Given the description of an element on the screen output the (x, y) to click on. 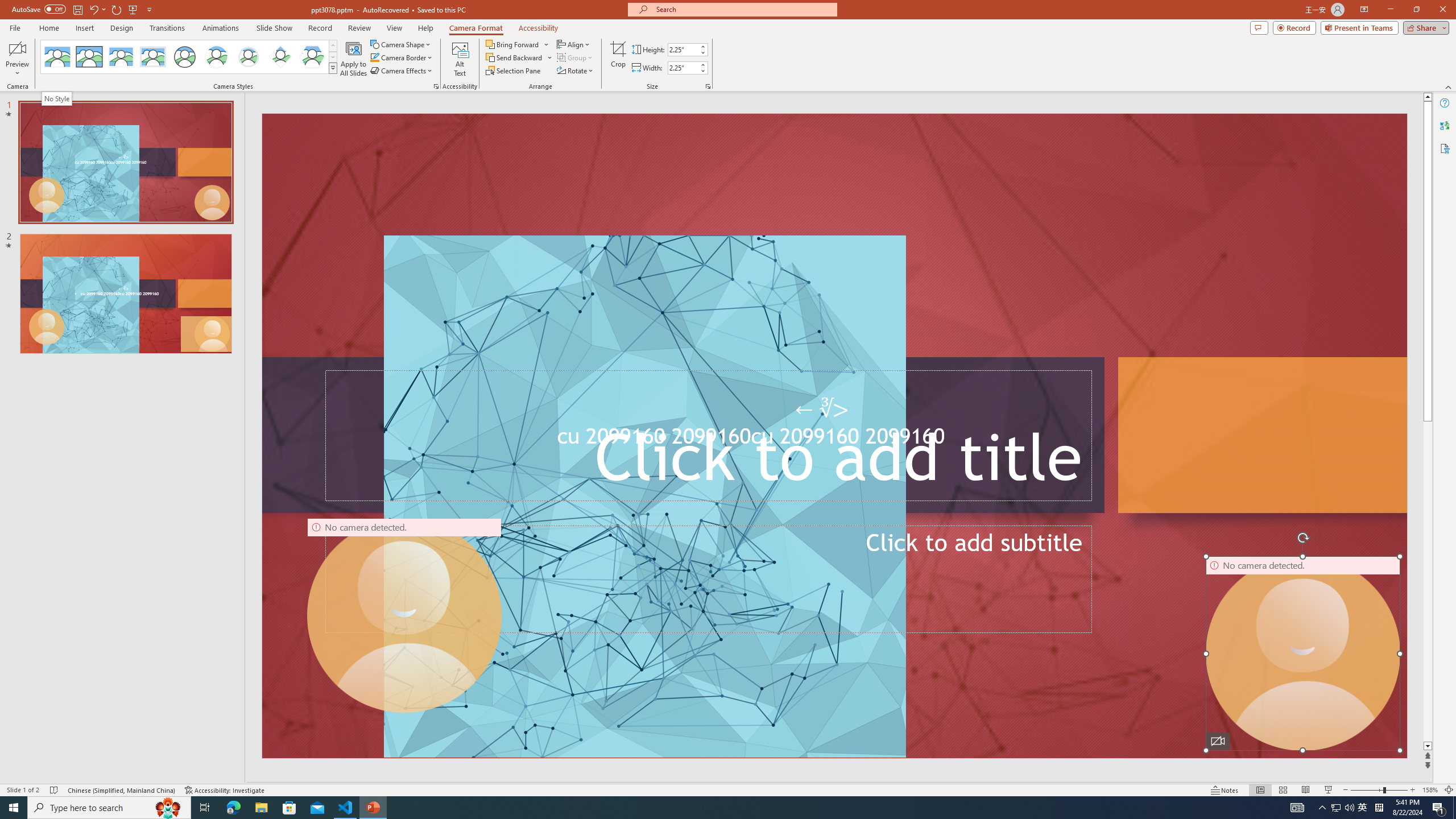
Camera Styles (333, 67)
More (702, 64)
Crop (617, 58)
Less (702, 70)
Align (574, 44)
Camera 16, No camera detected. (1302, 653)
TextBox 7 (822, 409)
Cameo Width (682, 67)
